Given the description of an element on the screen output the (x, y) to click on. 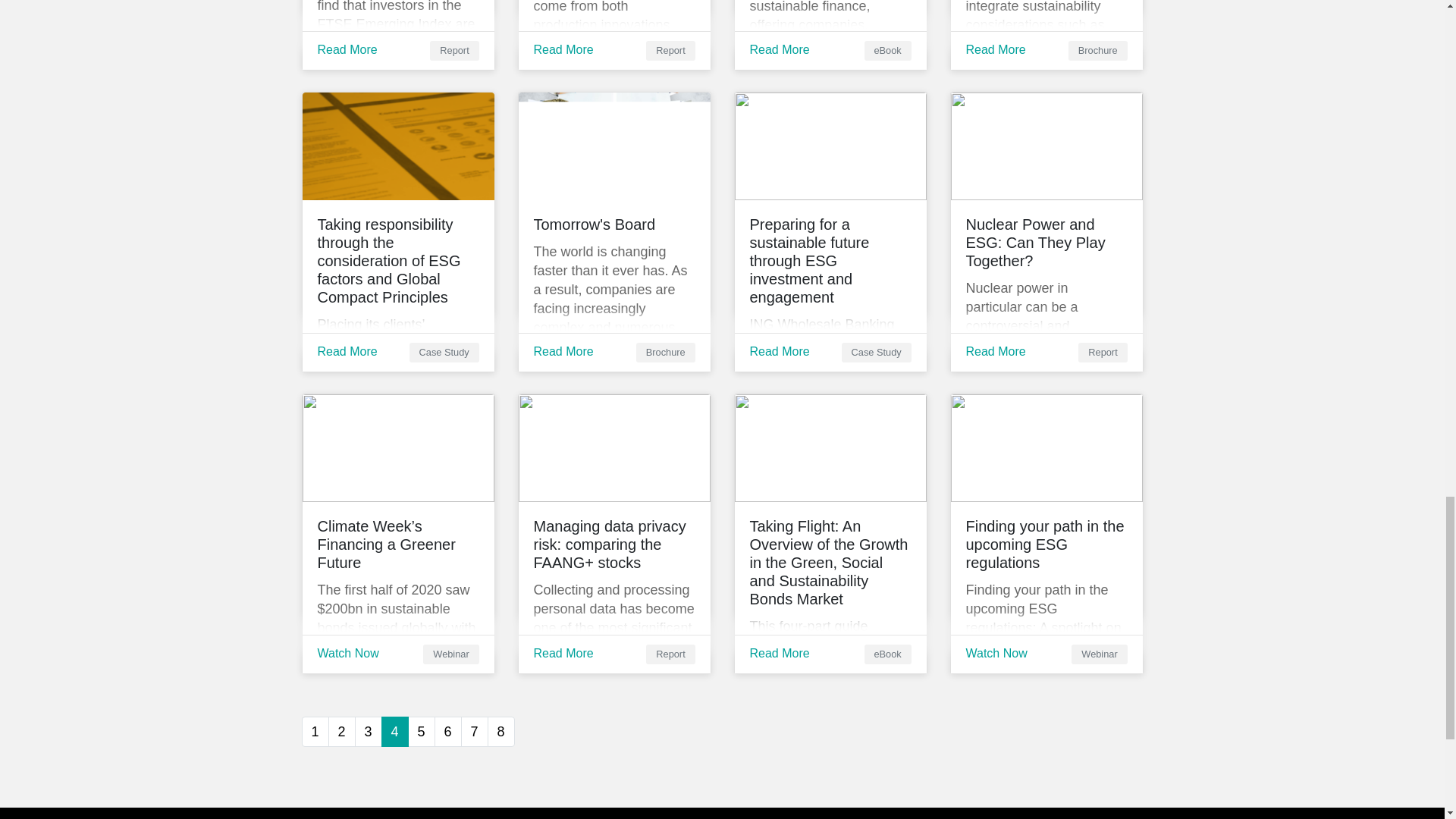
Group 9 (829, 145)
nuclear power (1046, 145)
Group 9 (397, 145)
faang (614, 447)
Group 12 (397, 447)
